Given the description of an element on the screen output the (x, y) to click on. 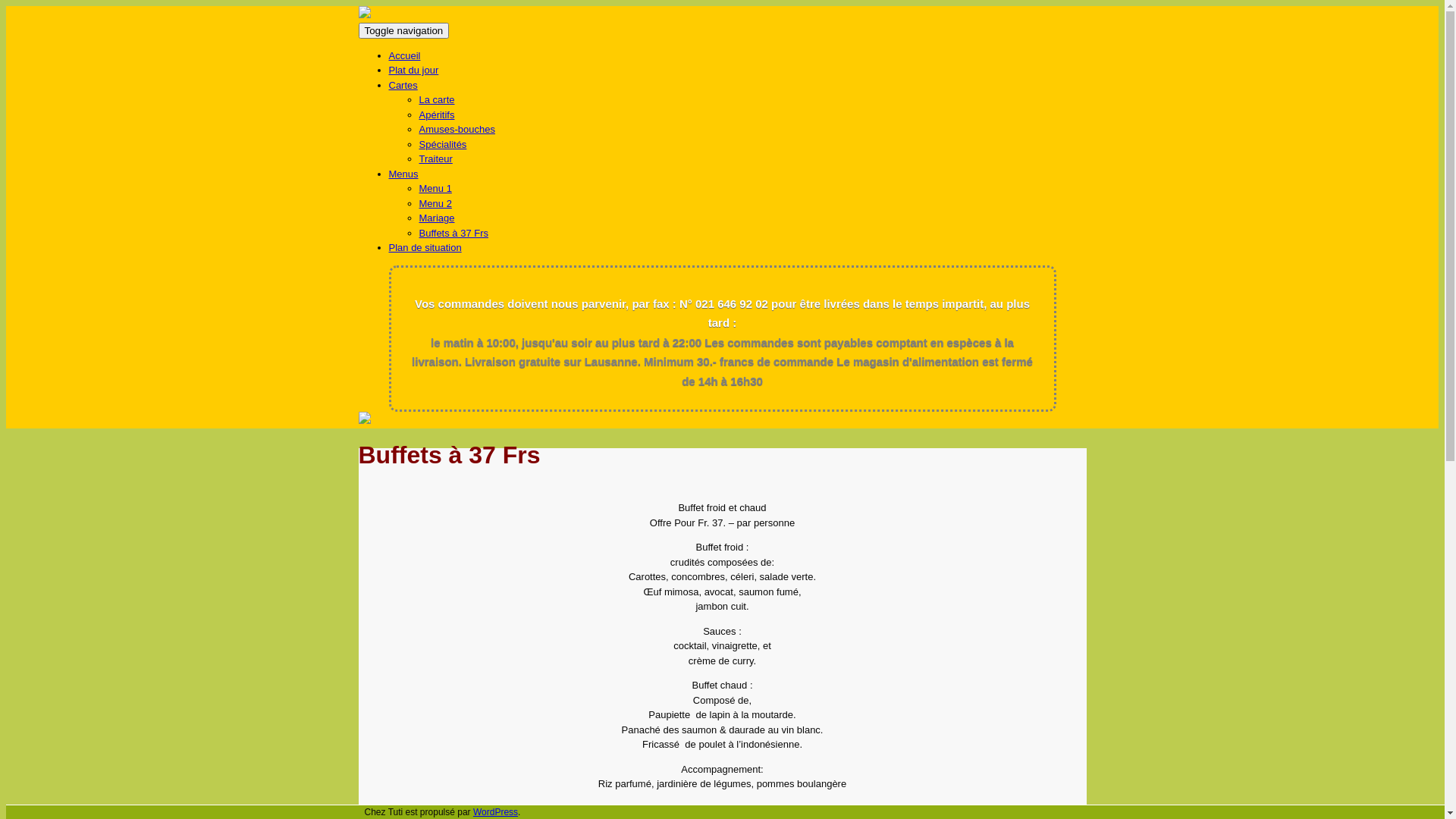
Menus Element type: text (402, 173)
Mariage Element type: text (436, 217)
Accueil Element type: text (404, 55)
Toggle navigation Element type: text (402, 30)
Traiteur Element type: text (434, 158)
Plat du jour Element type: text (413, 69)
Cartes Element type: text (402, 84)
Menu 1 Element type: text (434, 188)
La carte Element type: text (436, 99)
WordPress Element type: text (495, 811)
Plan de situation Element type: text (424, 247)
Menu 2 Element type: text (434, 202)
Amuses-bouches Element type: text (456, 128)
